Given the description of an element on the screen output the (x, y) to click on. 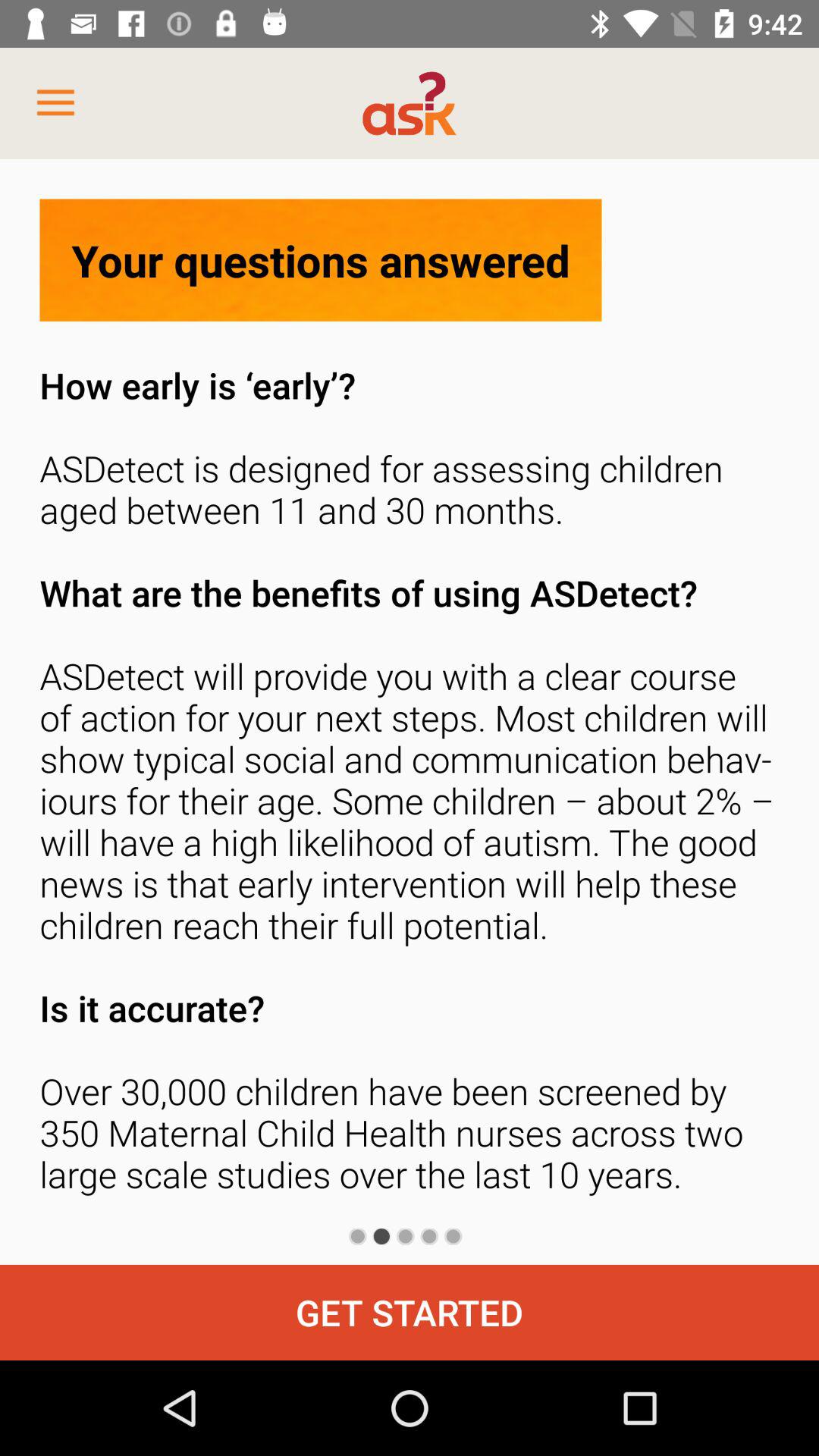
launch item at the top left corner (55, 103)
